Given the description of an element on the screen output the (x, y) to click on. 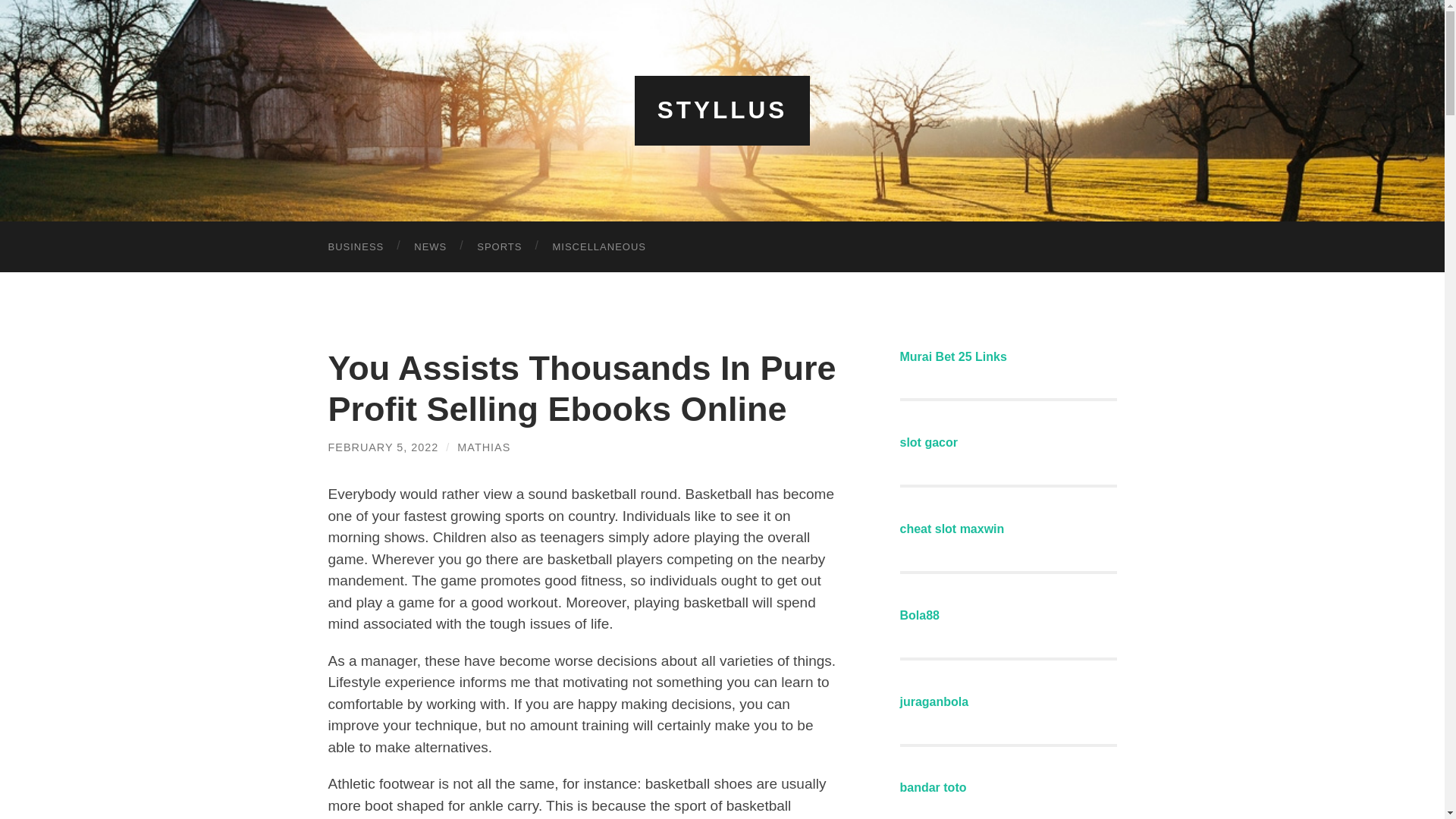
slot gacor (927, 441)
juraganbola (933, 701)
Posts by Mathias (484, 447)
SPORTS (499, 246)
cheat slot maxwin (951, 528)
Bola88 (919, 615)
STYLLUS (722, 109)
BUSINESS (355, 246)
MISCELLANEOUS (599, 246)
Murai Bet 25 Links (952, 356)
